Given the description of an element on the screen output the (x, y) to click on. 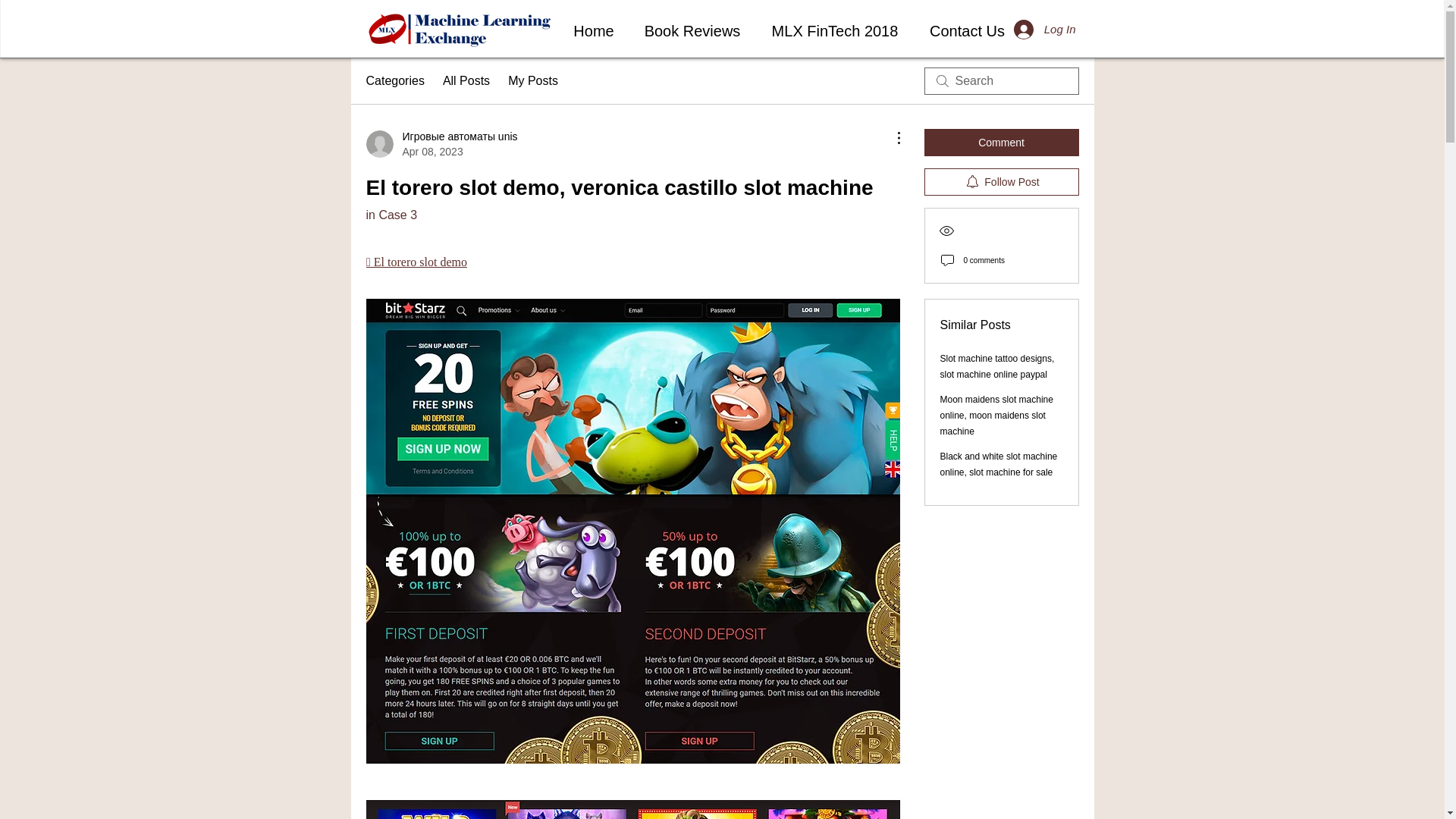
Slot machine tattoo designs, slot machine online paypal (997, 366)
Contact Us (967, 31)
Log In (1044, 29)
Moon maidens slot machine online, moon maidens slot machine (996, 414)
All Posts (465, 81)
My Posts (532, 81)
Comment (1000, 142)
Categories (394, 81)
Book Reviews (691, 31)
MLX FinTech 2018 (834, 31)
